Given the description of an element on the screen output the (x, y) to click on. 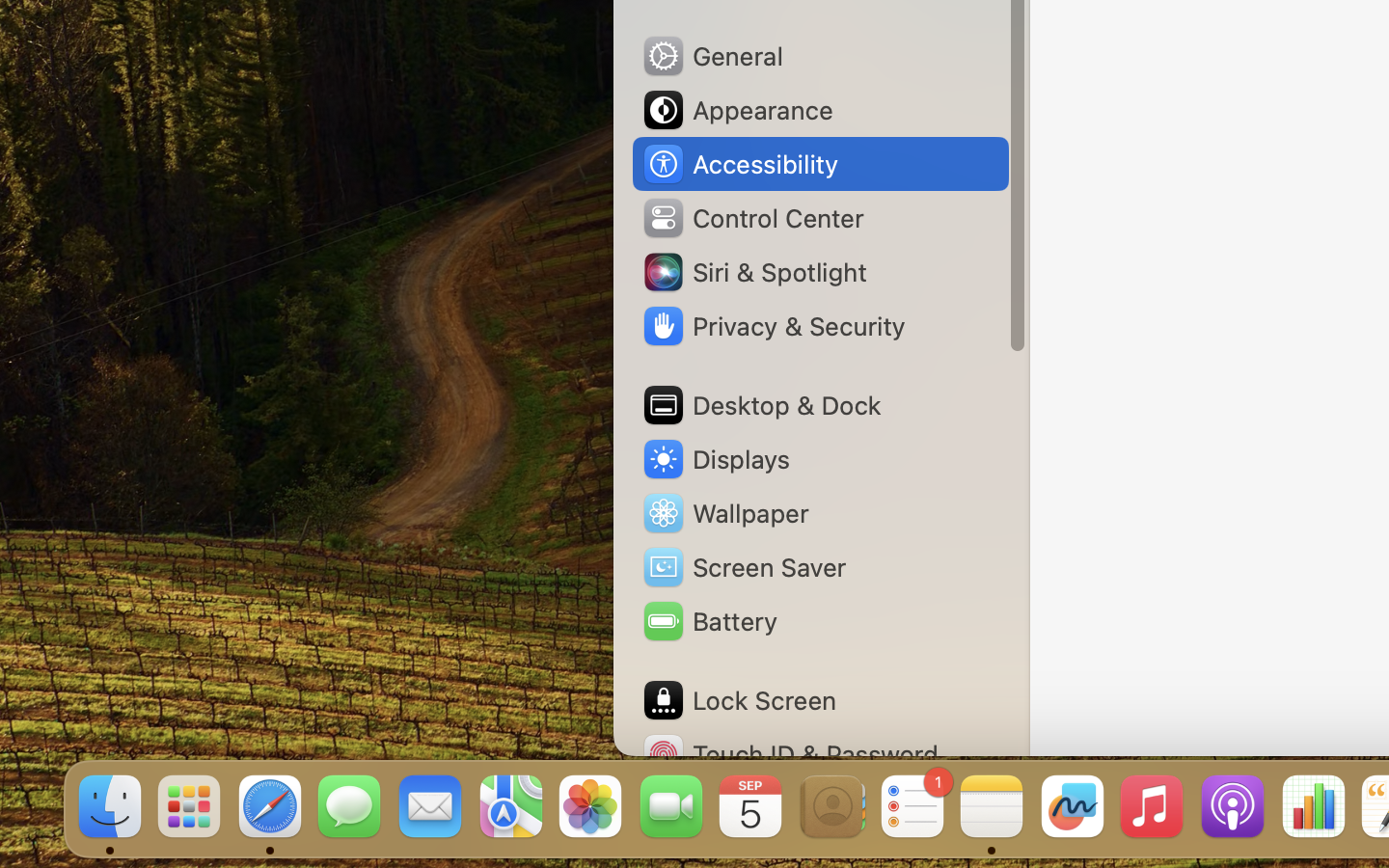
Siri & Spotlight Element type: AXStaticText (753, 271)
Wallpaper Element type: AXStaticText (724, 512)
Accessibility Element type: AXStaticText (739, 163)
